Given the description of an element on the screen output the (x, y) to click on. 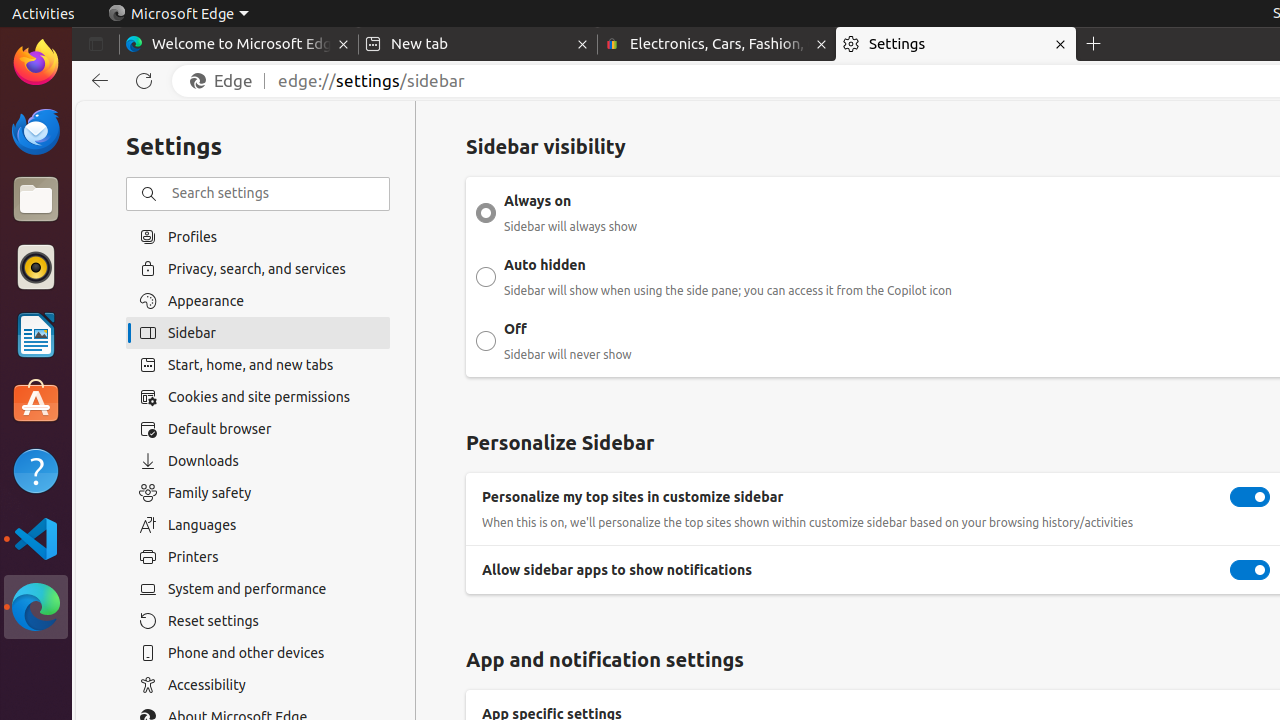
Help Element type: push-button (36, 470)
Always on Sidebar will always show Element type: radio-button (486, 213)
Back Element type: push-button (96, 81)
Accessibility Element type: tree-item (258, 685)
Refresh Element type: push-button (144, 81)
